Given the description of an element on the screen output the (x, y) to click on. 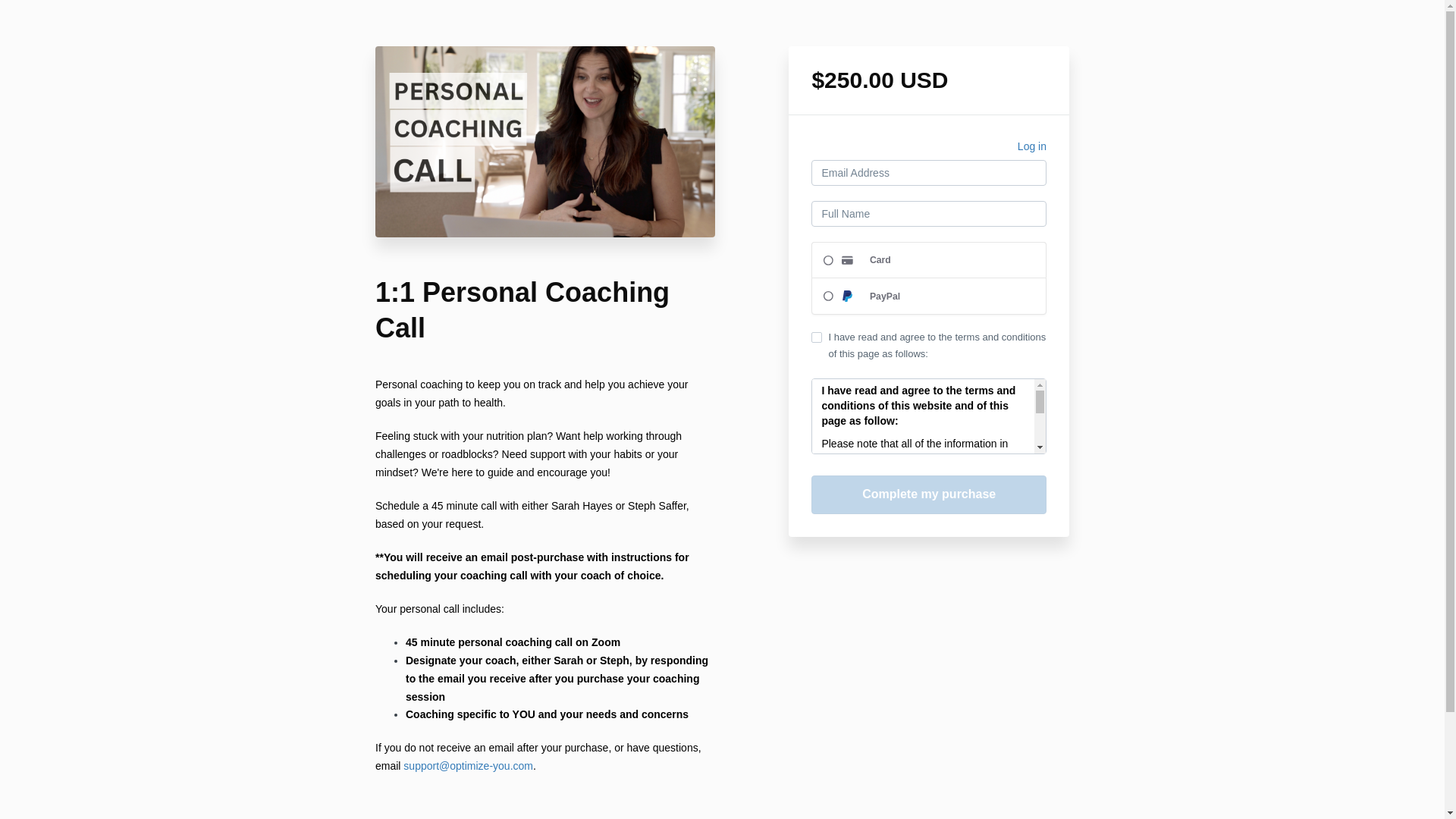
Log in (1031, 148)
Secure payment input frame (928, 277)
Complete my purchase (928, 494)
Complete my purchase (928, 494)
1 (816, 337)
